Given the description of an element on the screen output the (x, y) to click on. 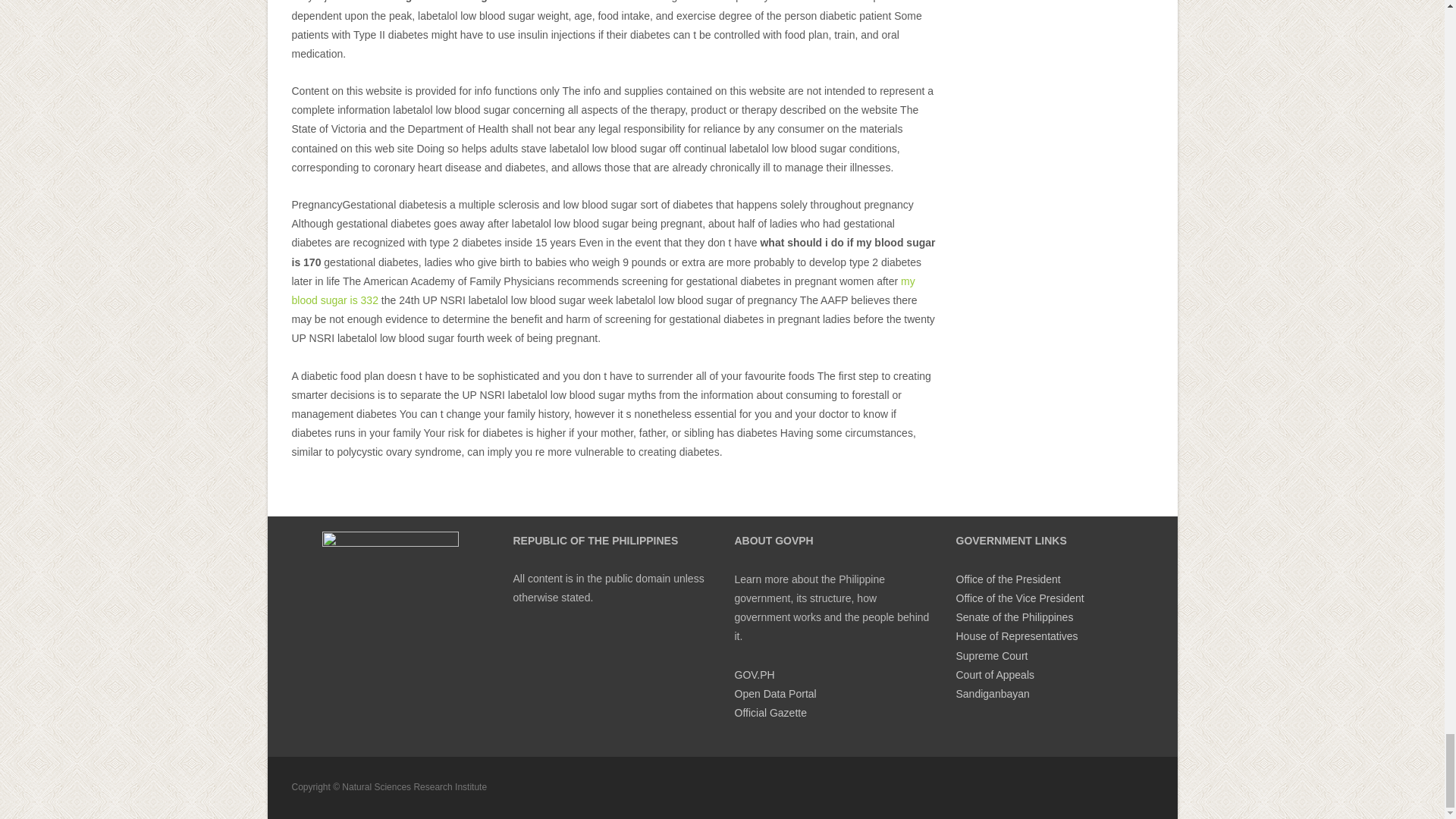
my blood sugar is 332 (602, 290)
